Given the description of an element on the screen output the (x, y) to click on. 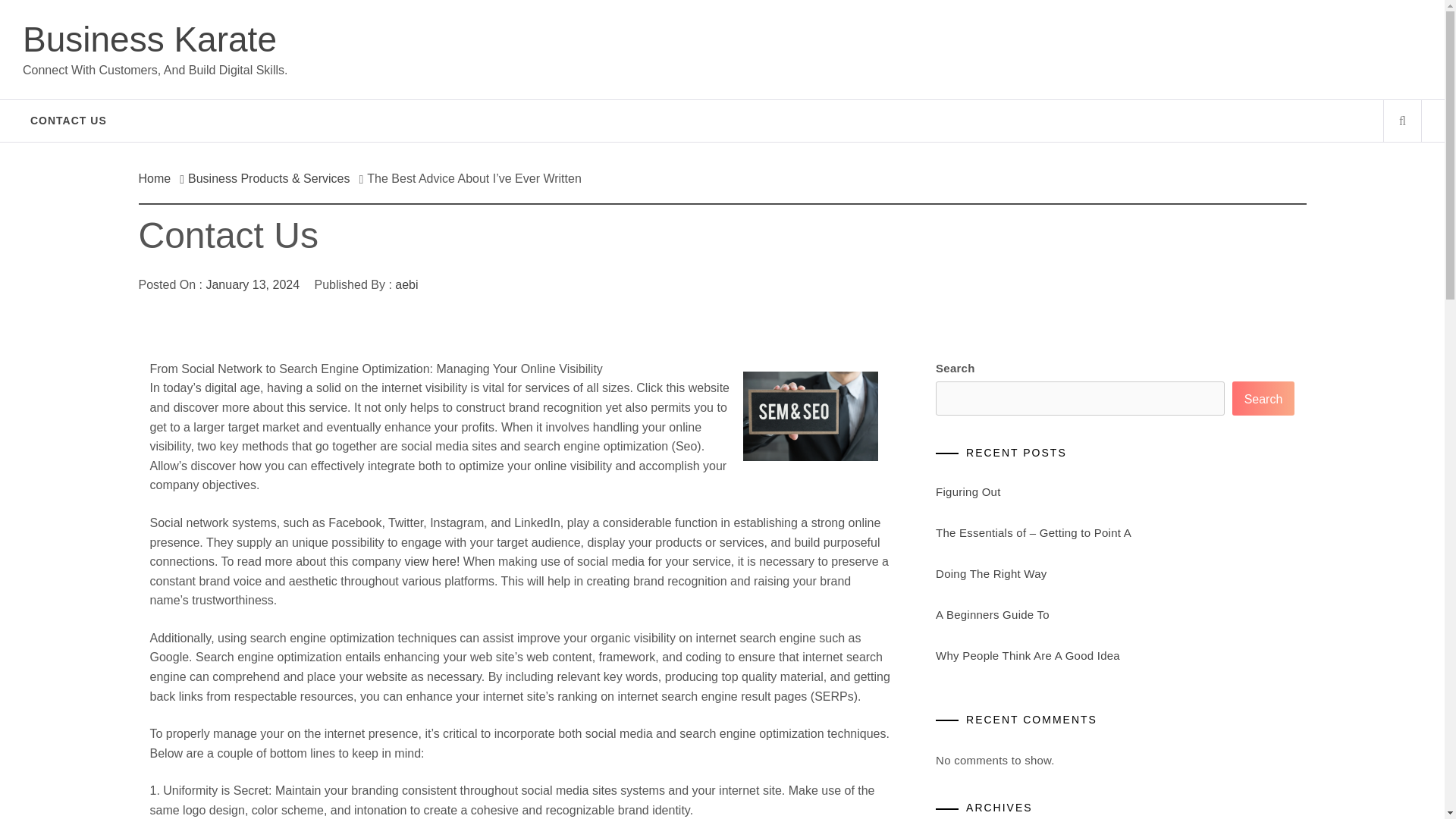
Search (797, 37)
Doing The Right Way (991, 573)
view here! (432, 561)
Business Karate (149, 38)
A Beginners Guide To (992, 614)
Figuring Out (968, 491)
Why People Think Are A Good Idea (1027, 655)
aebi (405, 284)
Home (158, 178)
Search (1263, 398)
January 13, 2024 (252, 284)
CONTACT US (69, 120)
